Given the description of an element on the screen output the (x, y) to click on. 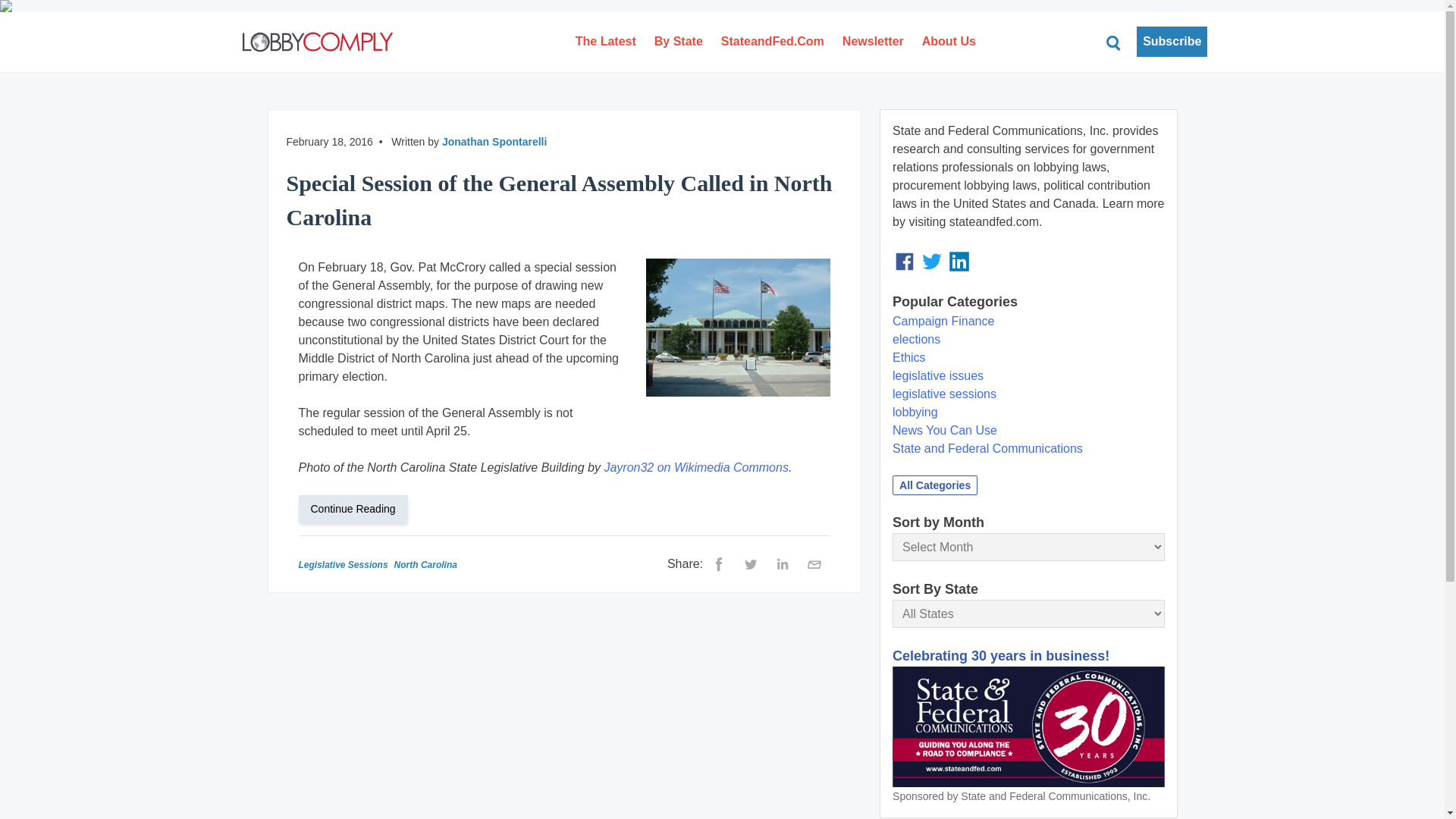
legislative sessions (943, 393)
Continue Reading (359, 508)
The Latest (605, 41)
Subscribe (1172, 41)
Jayron32 on Wikimedia Commons (696, 467)
By State (678, 41)
About Us (948, 41)
Jonathan Spontarelli (494, 141)
Campaign Finance (943, 320)
lobbying (914, 411)
